Given the description of an element on the screen output the (x, y) to click on. 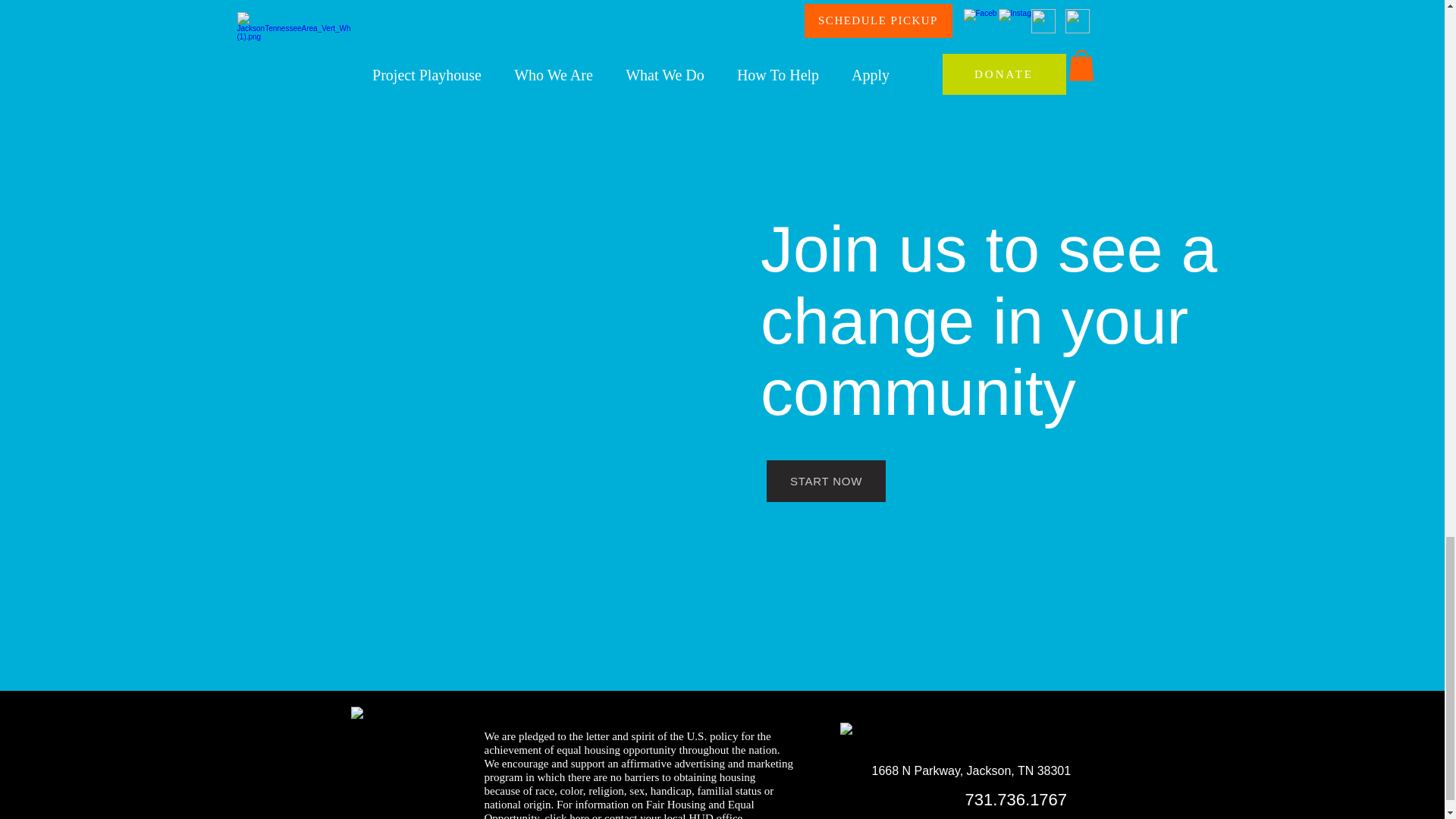
731.736.1767 (1015, 799)
START NOW (826, 481)
1668 N Parkway, Jackson, TN 38301 (971, 770)
